Given the description of an element on the screen output the (x, y) to click on. 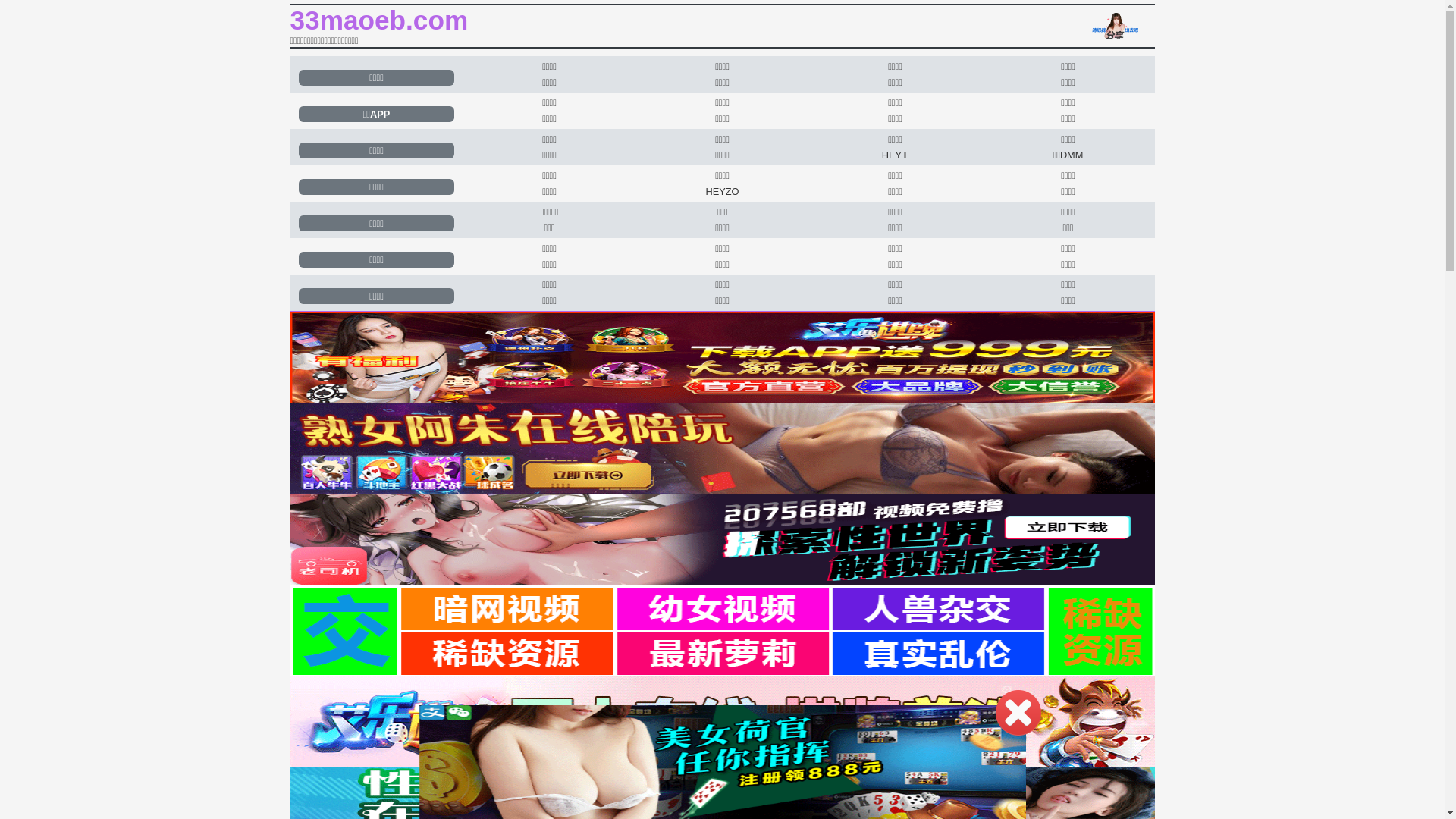
HEYZO Element type: text (722, 191)
